Given the description of an element on the screen output the (x, y) to click on. 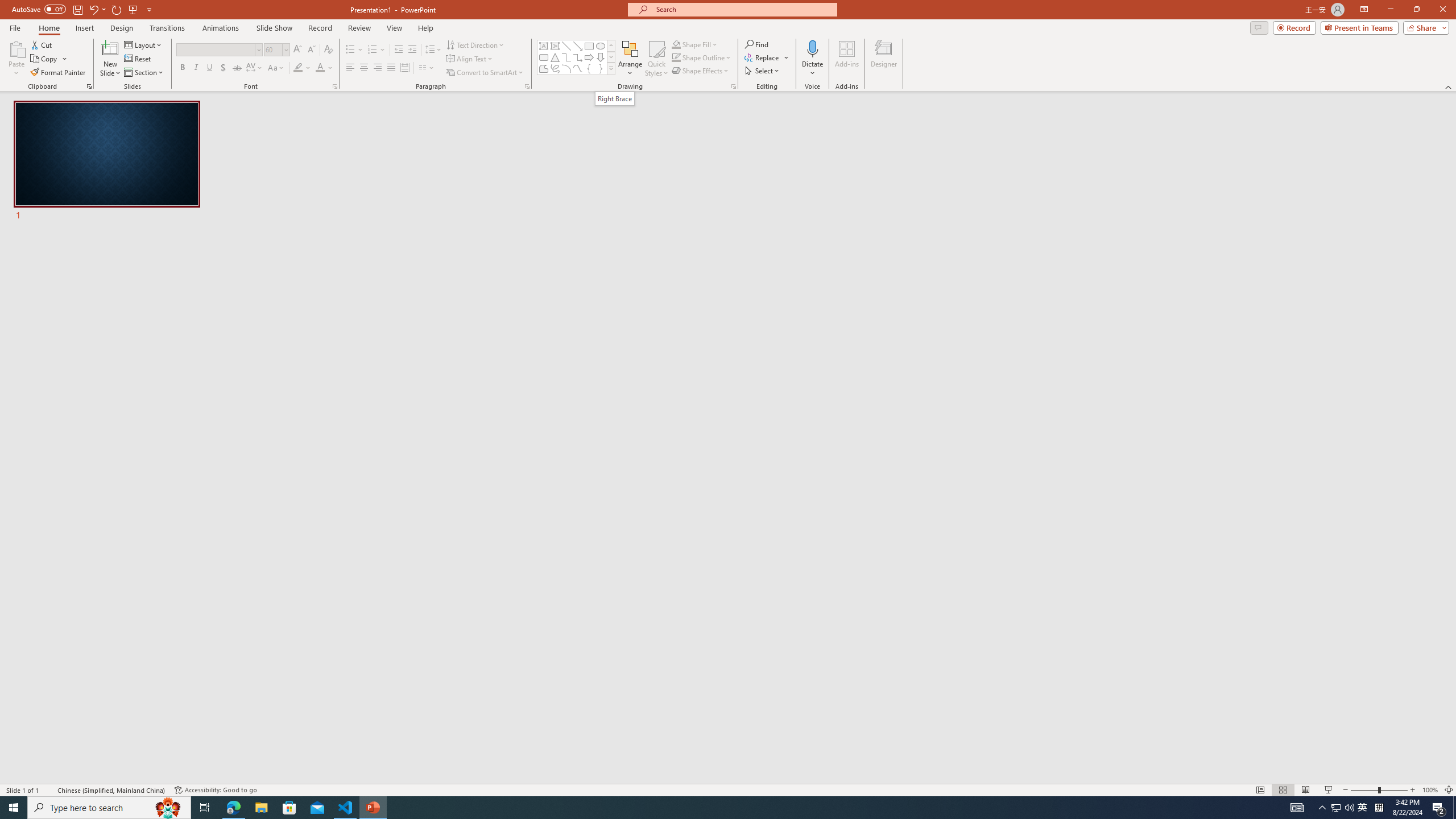
Distributed (404, 67)
Italic (195, 67)
Shape Effects (700, 69)
